Given the description of an element on the screen output the (x, y) to click on. 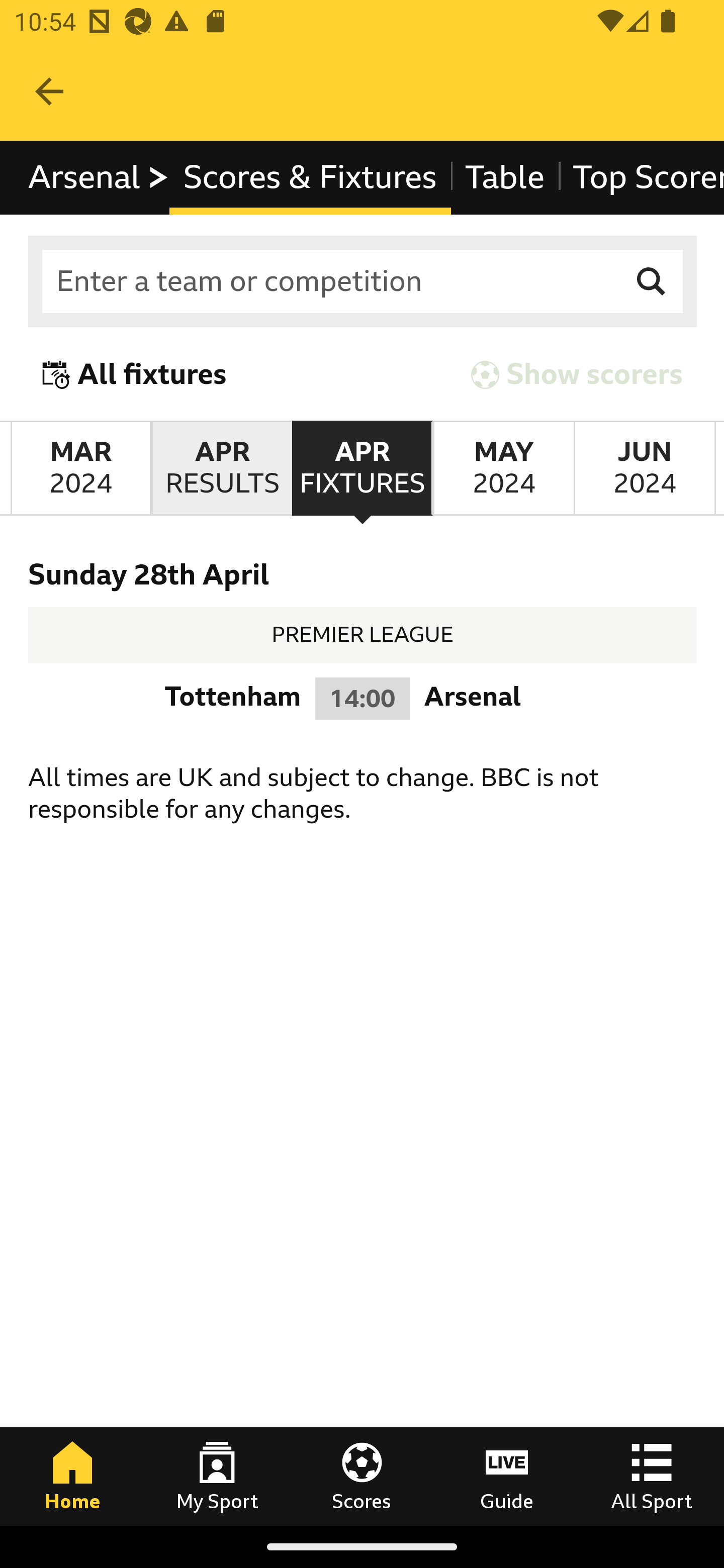
Navigate up (49, 91)
Arsenal  (99, 177)
Scores & Fixtures (309, 177)
Table (504, 177)
Search (651, 282)
All fixtures (134, 374)
Show scorers (576, 374)
March2024 March 2024 (80, 468)
AprilRESULTS April RESULTS (221, 468)
AprilFIXTURES, Selected April FIXTURES , Selected (361, 468)
May2024 May 2024 (502, 468)
June2024 June 2024 (644, 468)
My Sport (216, 1475)
Scores (361, 1475)
Guide (506, 1475)
All Sport (651, 1475)
